Given the description of an element on the screen output the (x, y) to click on. 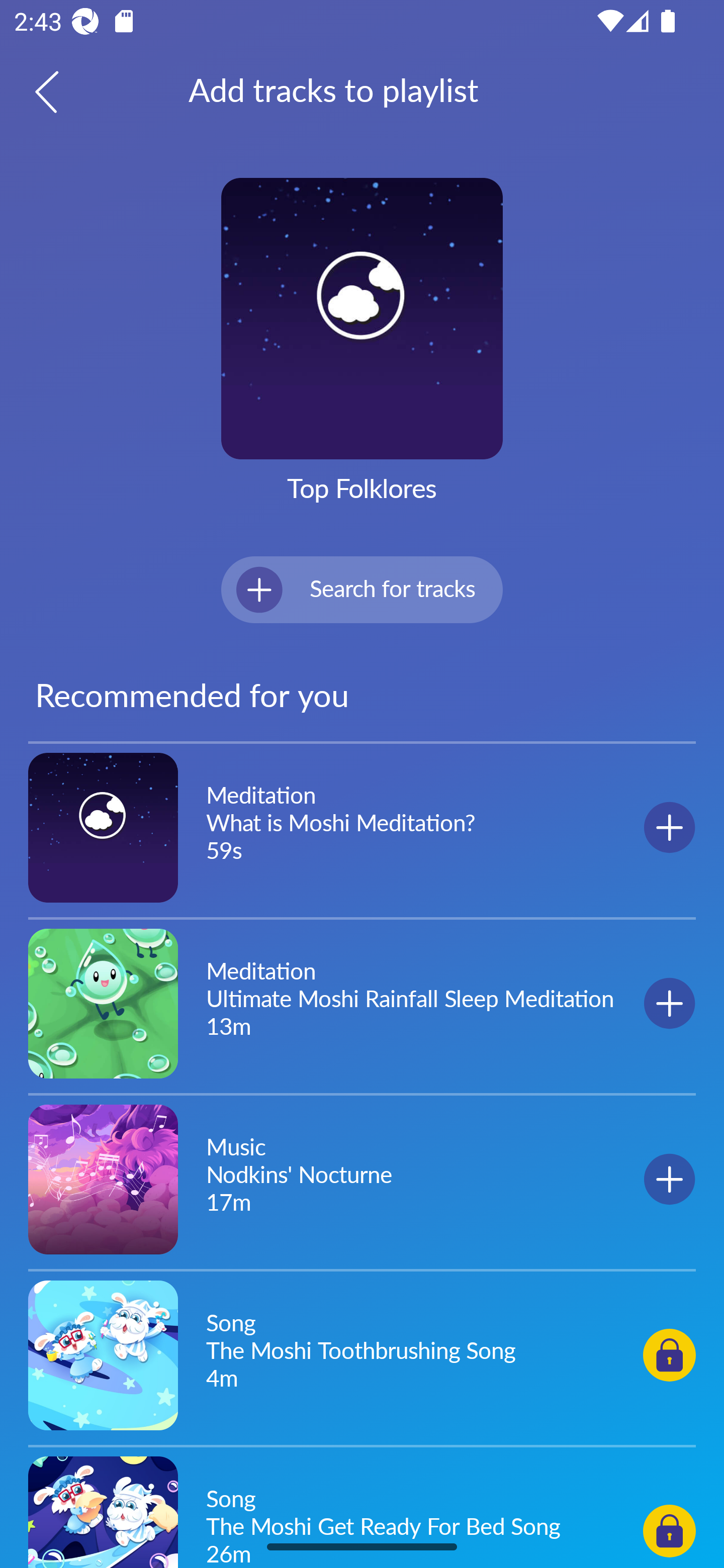
icon Search for tracks (361, 589)
Meditation What is Moshi Meditation? 59s (361, 827)
Music Nodkins' Nocturne 17m (361, 1179)
Song The Moshi Toothbrushing Song 4m (361, 1354)
Song The Moshi Get Ready For Bed Song 26m (361, 1509)
